Given the description of an element on the screen output the (x, y) to click on. 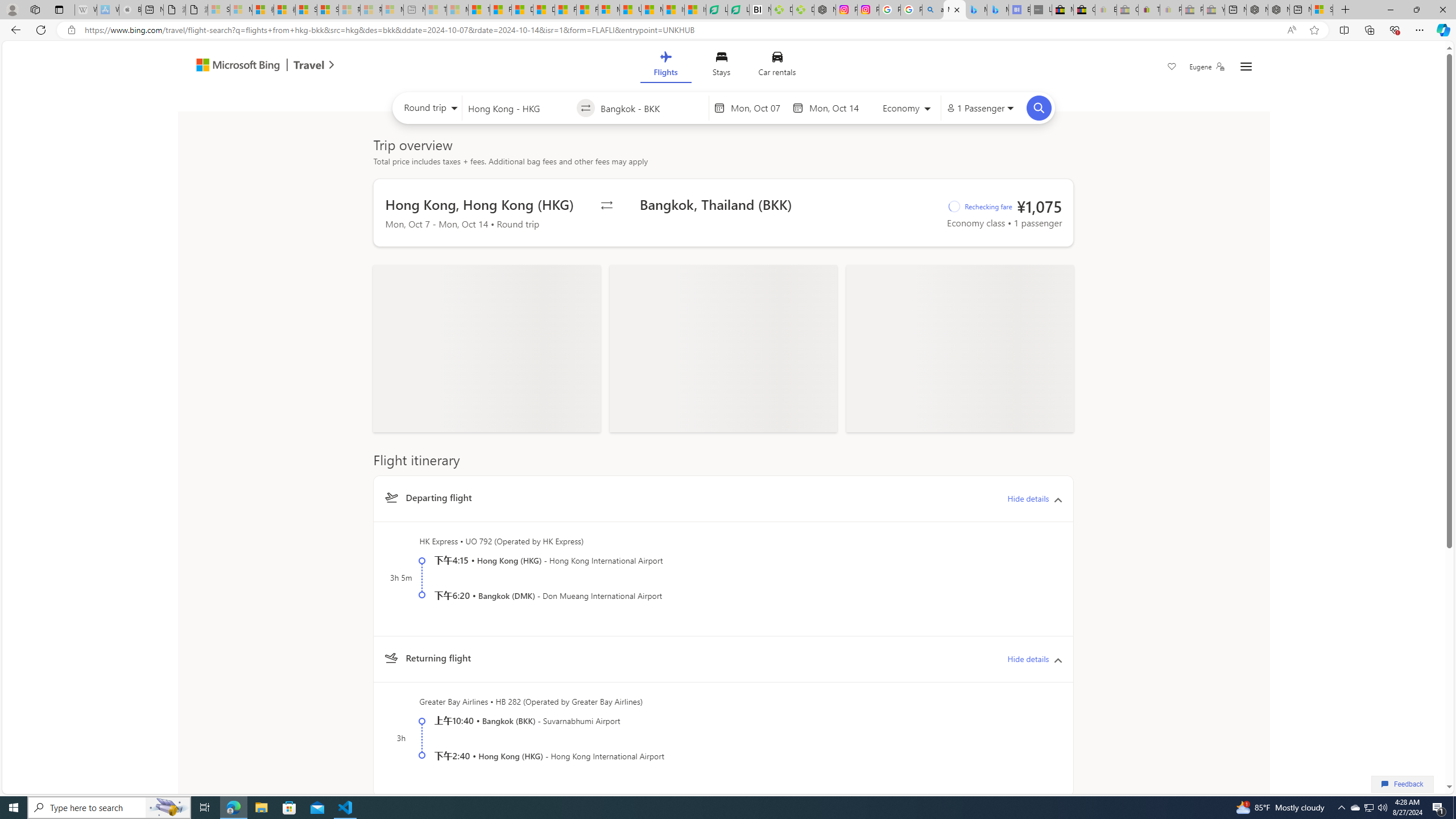
Wikipedia - Sleeping (85, 9)
Save (1171, 67)
Class: msft-travel-logo (308, 64)
Sign in to your Microsoft account - Sleeping (218, 9)
Microsoft Services Agreement - Sleeping (241, 9)
